Given the description of an element on the screen output the (x, y) to click on. 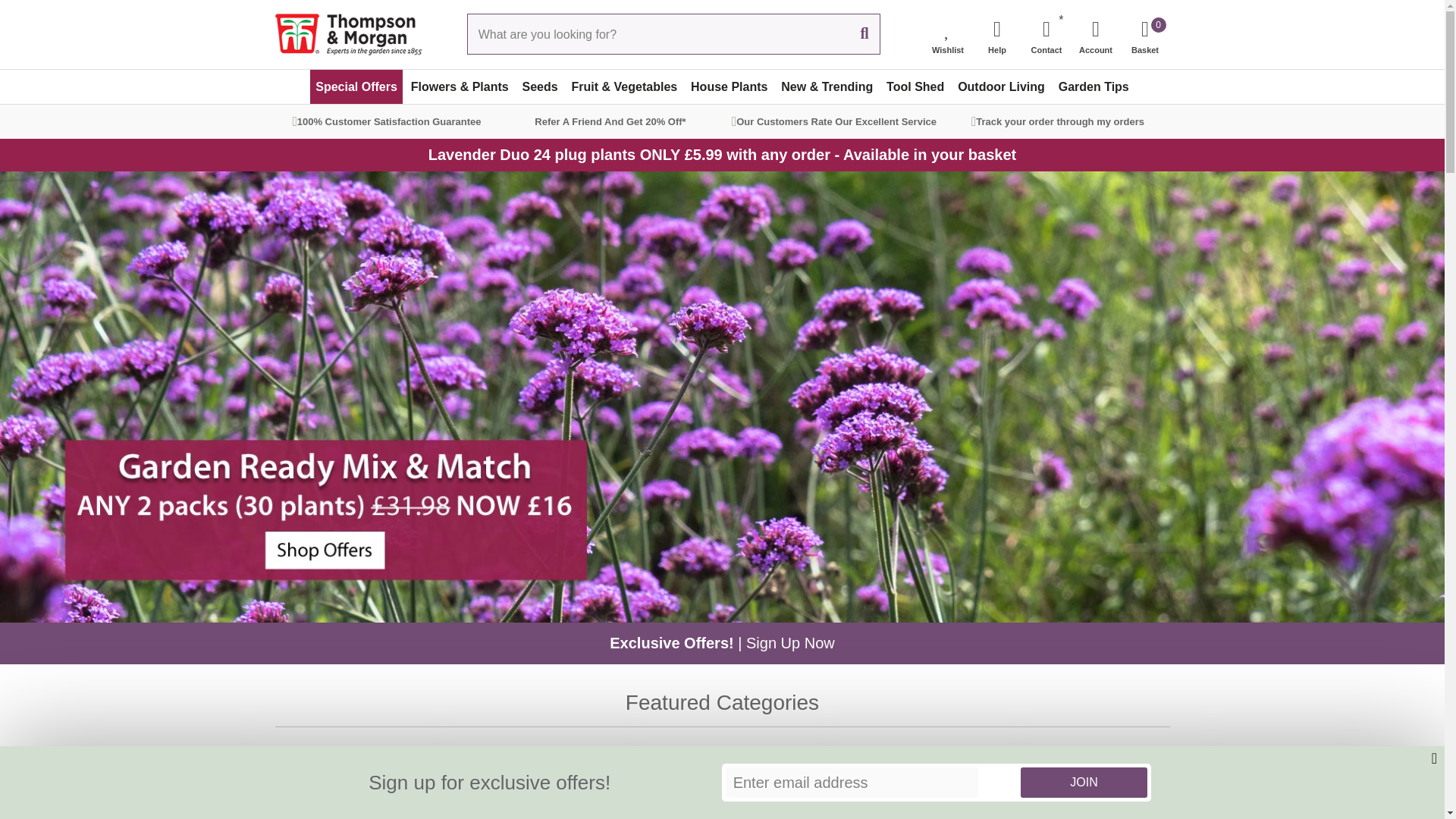
Help (997, 32)
Wishlist (947, 32)
Join (1083, 782)
Special Offers (356, 86)
Account (1145, 32)
